Given the description of an element on the screen output the (x, y) to click on. 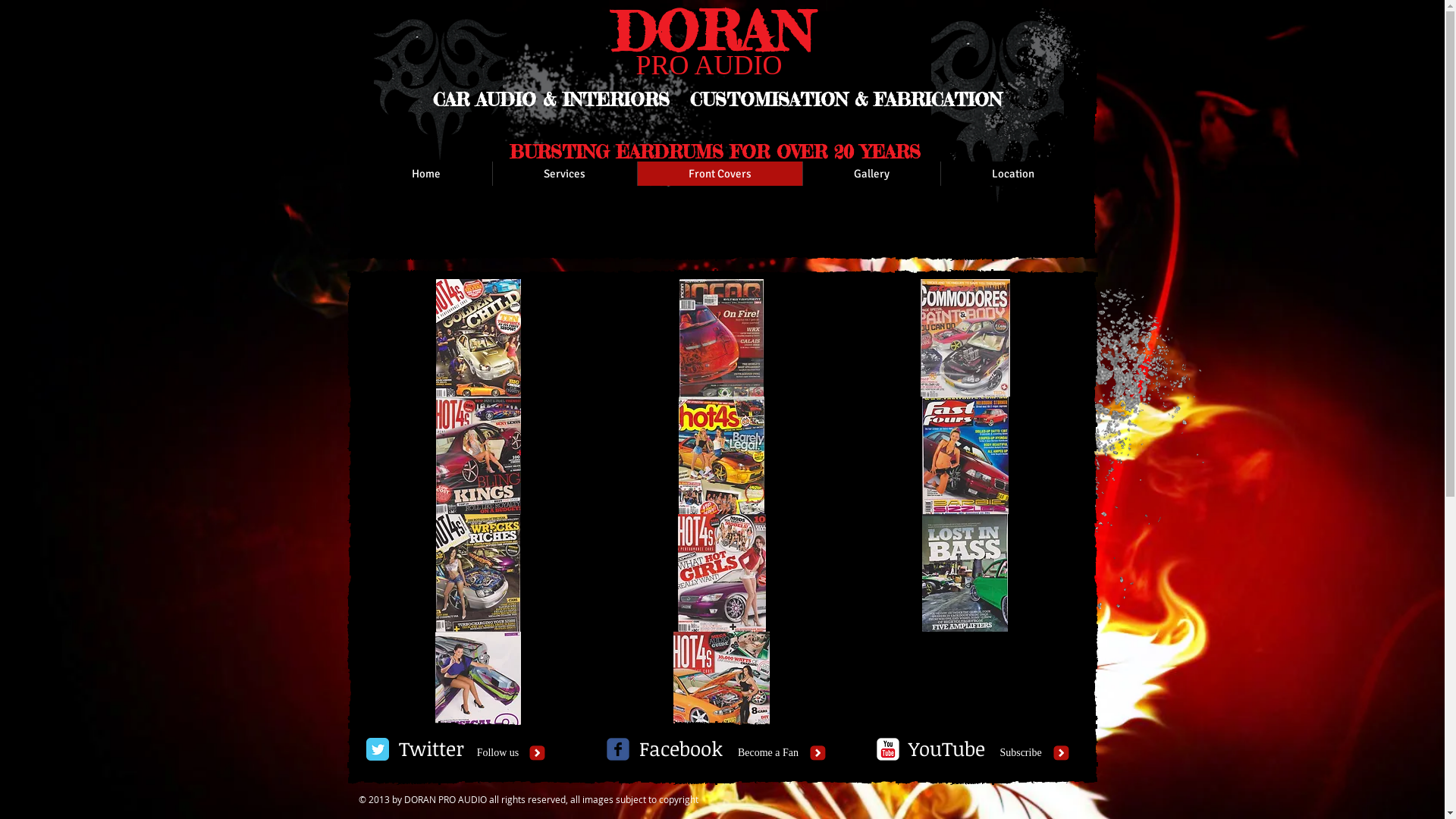
Home Element type: text (426, 173)
YouTube Element type: text (946, 749)
Gallery Element type: text (871, 173)
Become a Fan Element type: text (767, 752)
Facebook Element type: text (680, 749)
Subscribe Element type: text (1019, 752)
Services Element type: text (563, 173)
Front Covers Element type: text (719, 173)
Twitter Element type: text (430, 749)
Location Element type: text (1012, 173)
